Given the description of an element on the screen output the (x, y) to click on. 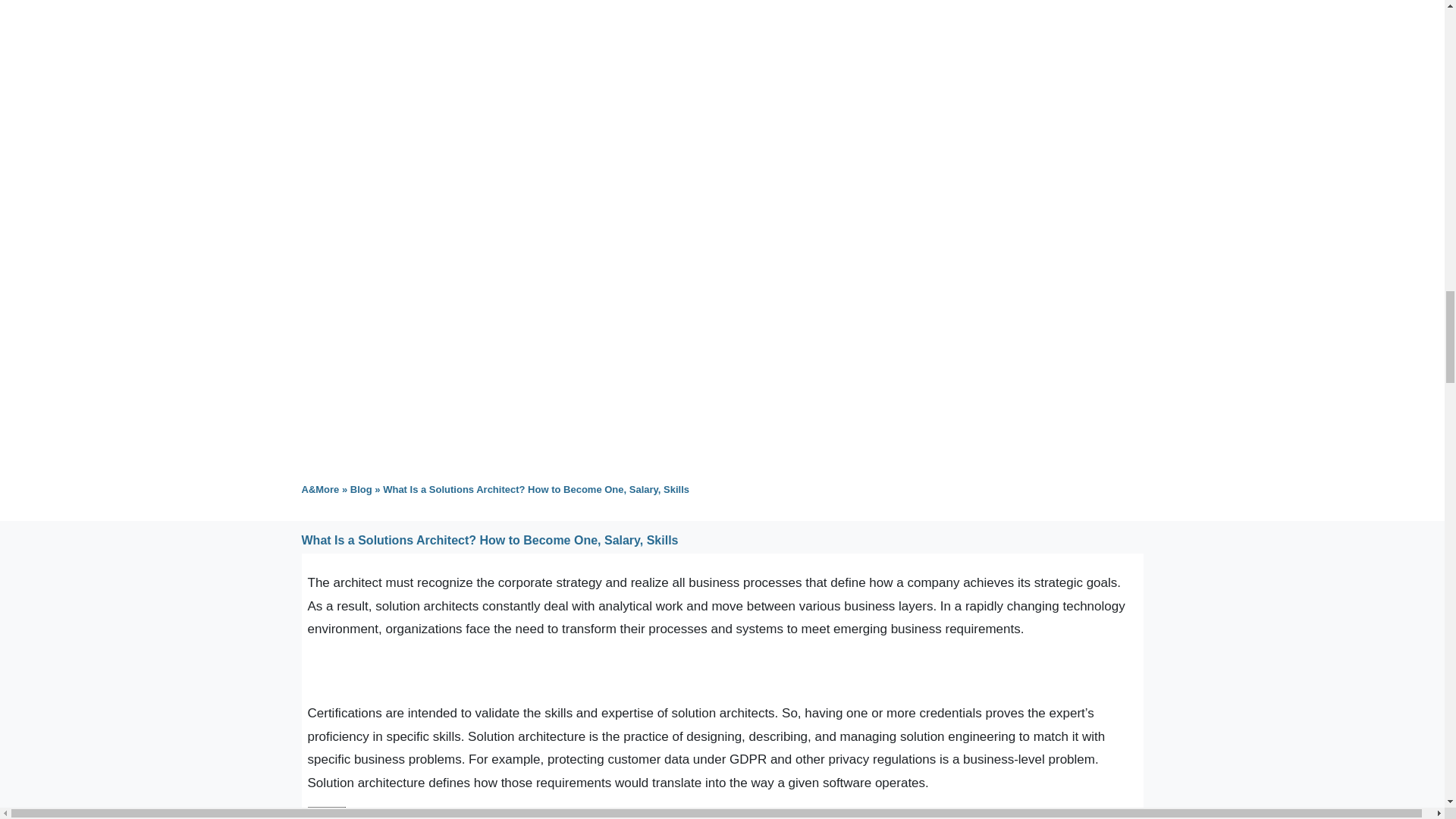
click To Maximize The Table Of Contents (326, 812)
Blog (361, 489)
